Given the description of an element on the screen output the (x, y) to click on. 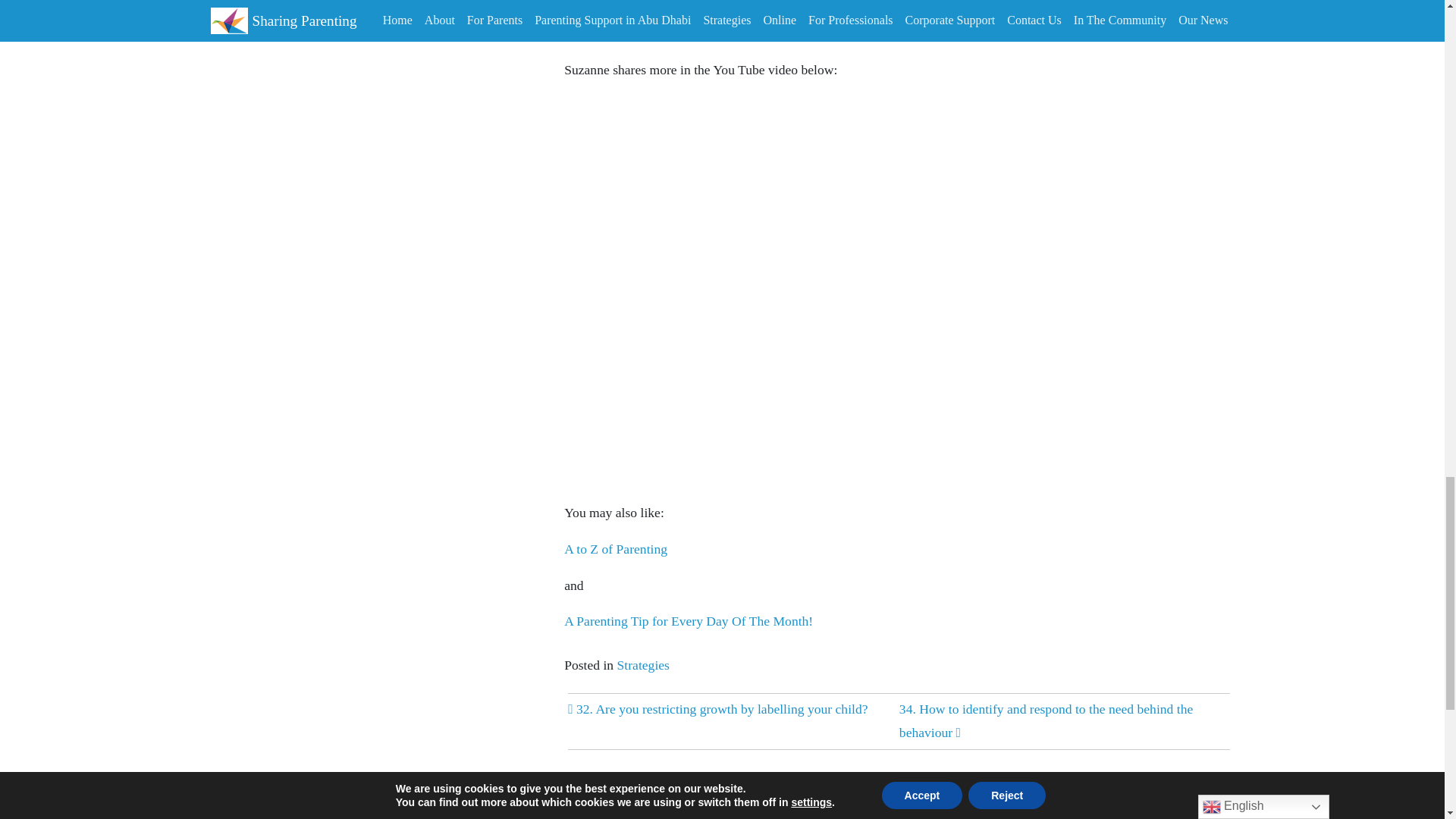
Strategies (643, 664)
A to Z of Parenting (615, 548)
A Parenting Tip for Every Day Of The Month! (688, 620)
 32. Are you restricting growth by labelling your child? (717, 708)
